Given the description of an element on the screen output the (x, y) to click on. 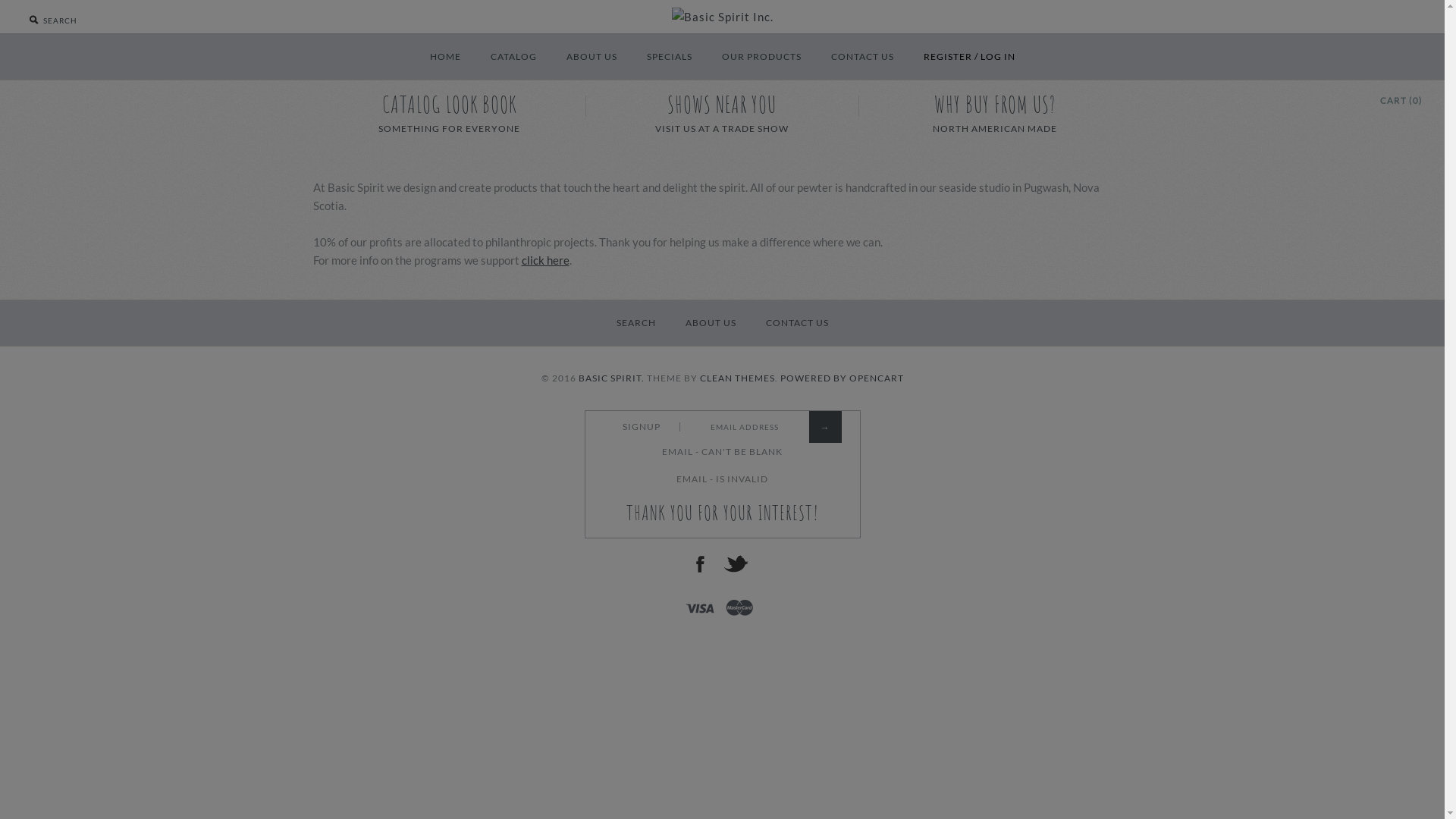
LOG IN Element type: text (996, 56)
CATALOG Element type: text (512, 56)
BASIC SPIRIT. Element type: text (610, 377)
TWITTER Element type: text (735, 563)
click here Element type: text (545, 259)
Basic Spirit Inc. Element type: hover (722, 16)
CLEAN THEMES Element type: text (736, 377)
SPECIALS Element type: text (668, 56)
ABOUT US Element type: text (591, 56)
CART (0) Element type: text (1401, 100)
POWERED BY OPENCART Element type: text (841, 377)
HOME Element type: text (444, 56)
SHOWS NEAR YOU
VISIT US AT A TRADE SHOW Element type: text (721, 112)
ABOUT US Element type: text (710, 323)
CART (0) Element type: text (1401, 99)
WHY BUY FROM US?
NORTH AMERICAN MADE Element type: text (994, 112)
CONTACT US Element type: text (862, 56)
SEARCH Element type: text (635, 323)
FACEBOOK Element type: text (699, 563)
OUR PRODUCTS Element type: text (761, 56)
Basic Spirit Inc. Element type: hover (722, 16)
CATALOG LOOK BOOK
SOMETHING FOR EVERYONE Element type: text (448, 112)
REGISTER Element type: text (947, 56)
CONTACT US Element type: text (797, 323)
